Given the description of an element on the screen output the (x, y) to click on. 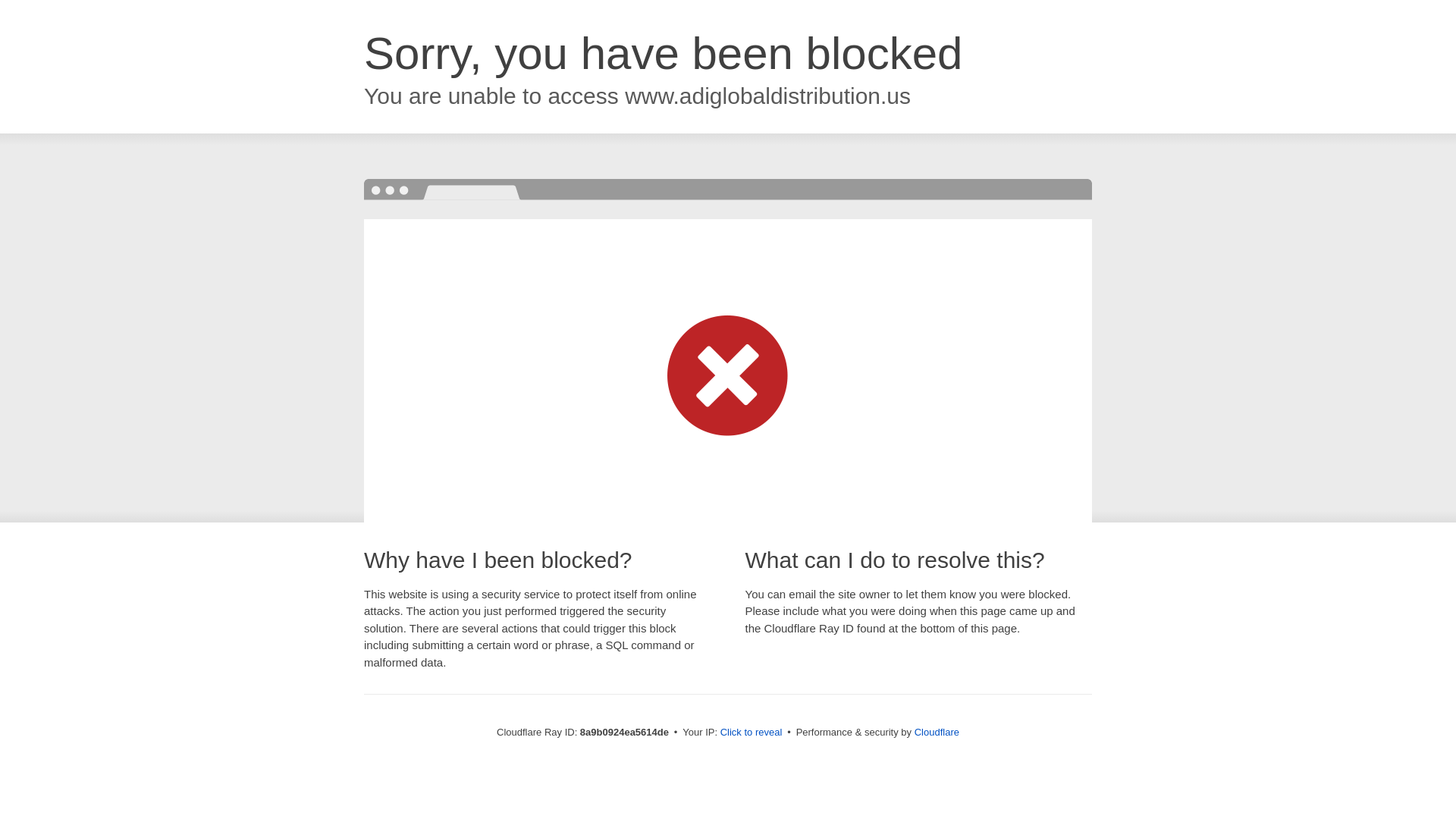
Click to reveal (751, 732)
Cloudflare (936, 731)
